Given the description of an element on the screen output the (x, y) to click on. 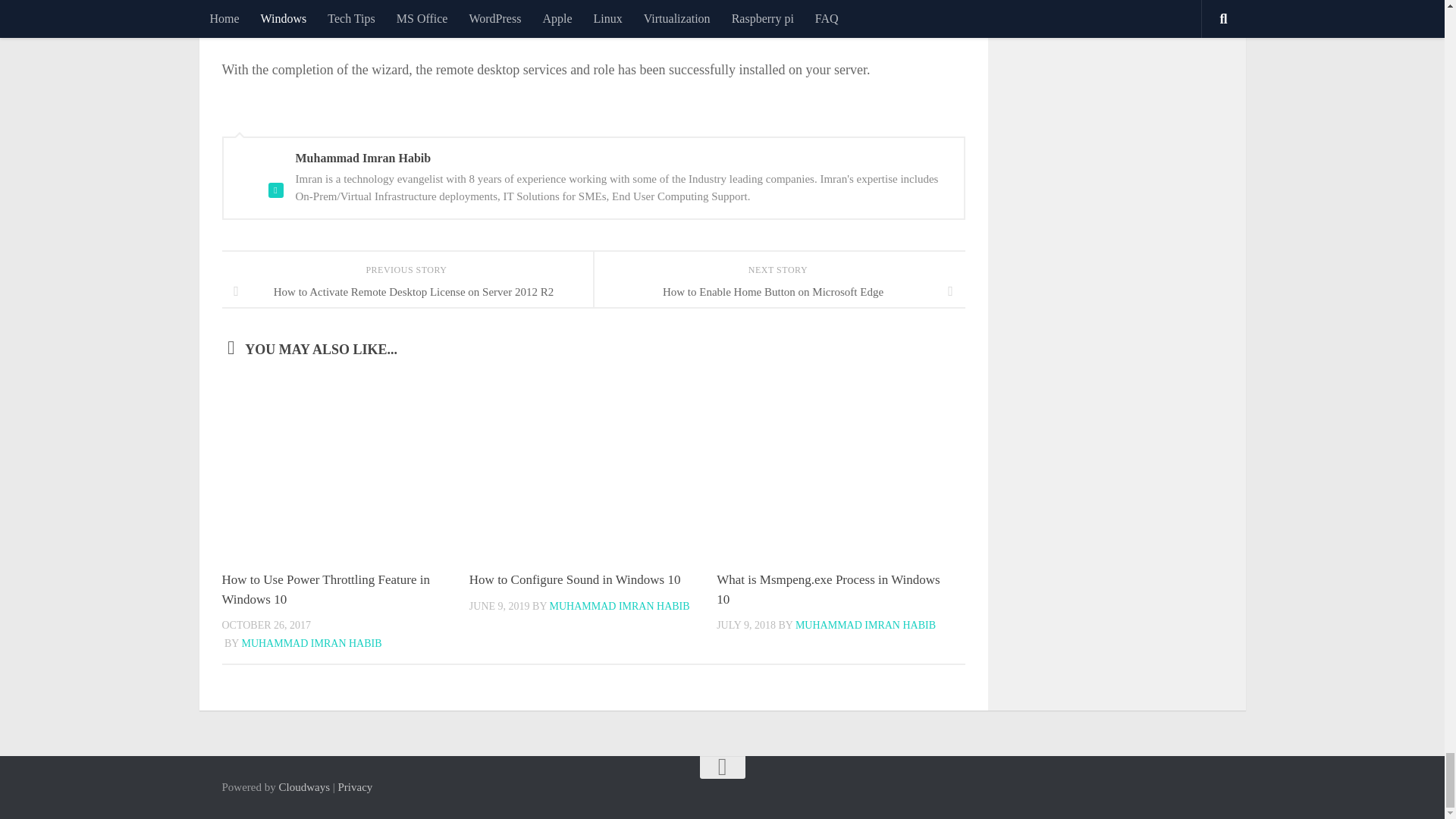
How to Use Power Throttling Feature in Windows 10 (325, 589)
MUHAMMAD IMRAN HABIB (618, 605)
Posts by Muhammad Imran Habib (618, 605)
Posts by Muhammad Imran Habib (311, 643)
How to Activate Remote Desktop License on Server 2012 R2 (406, 291)
How to Configure Sound in Windows 10 (574, 579)
How to Enable Home Button on Microsoft Edge (777, 291)
Posts by Muhammad Imran Habib (865, 624)
MUHAMMAD IMRAN HABIB (311, 643)
